Given the description of an element on the screen output the (x, y) to click on. 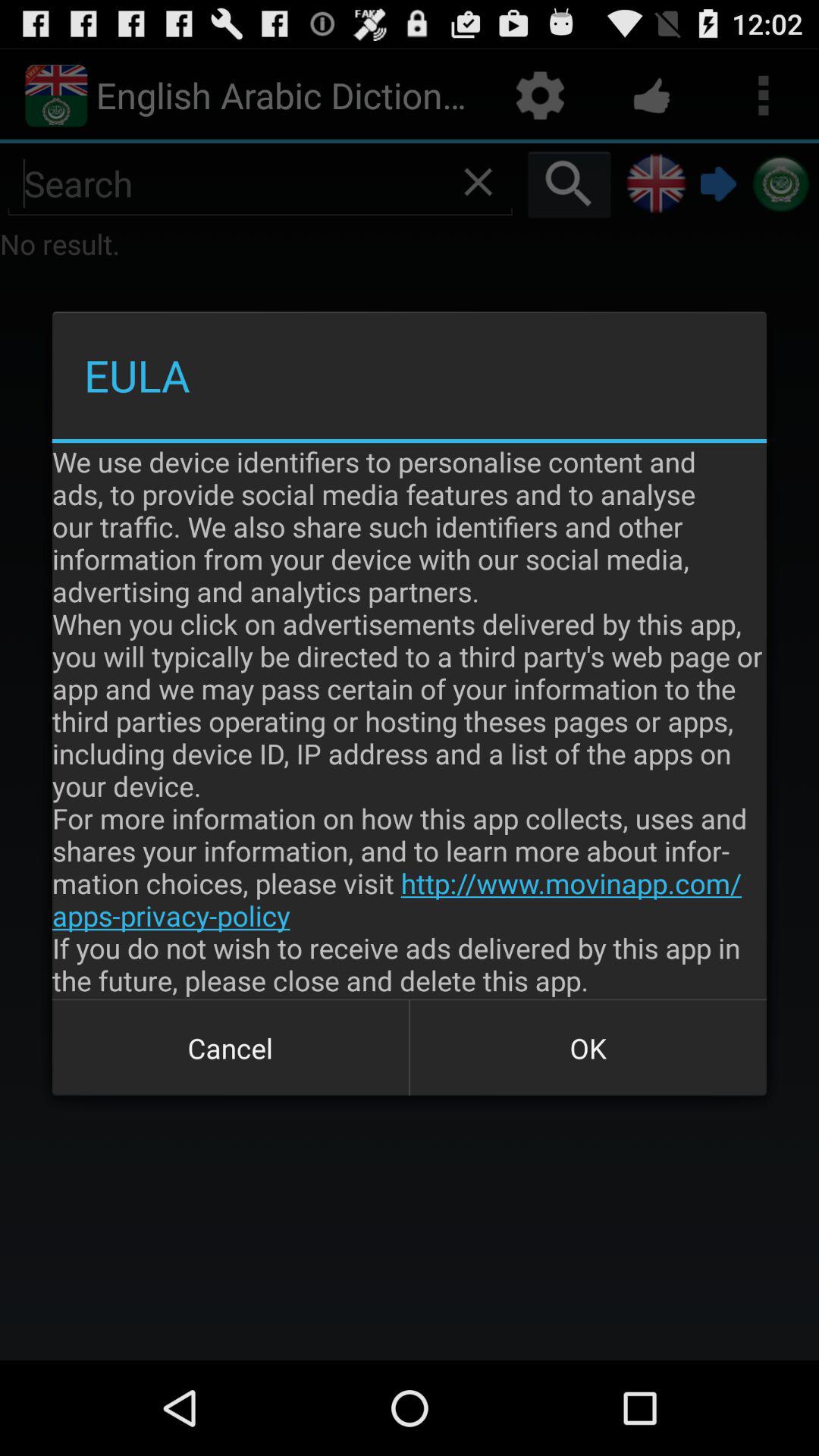
press the icon next to the ok icon (230, 1047)
